Given the description of an element on the screen output the (x, y) to click on. 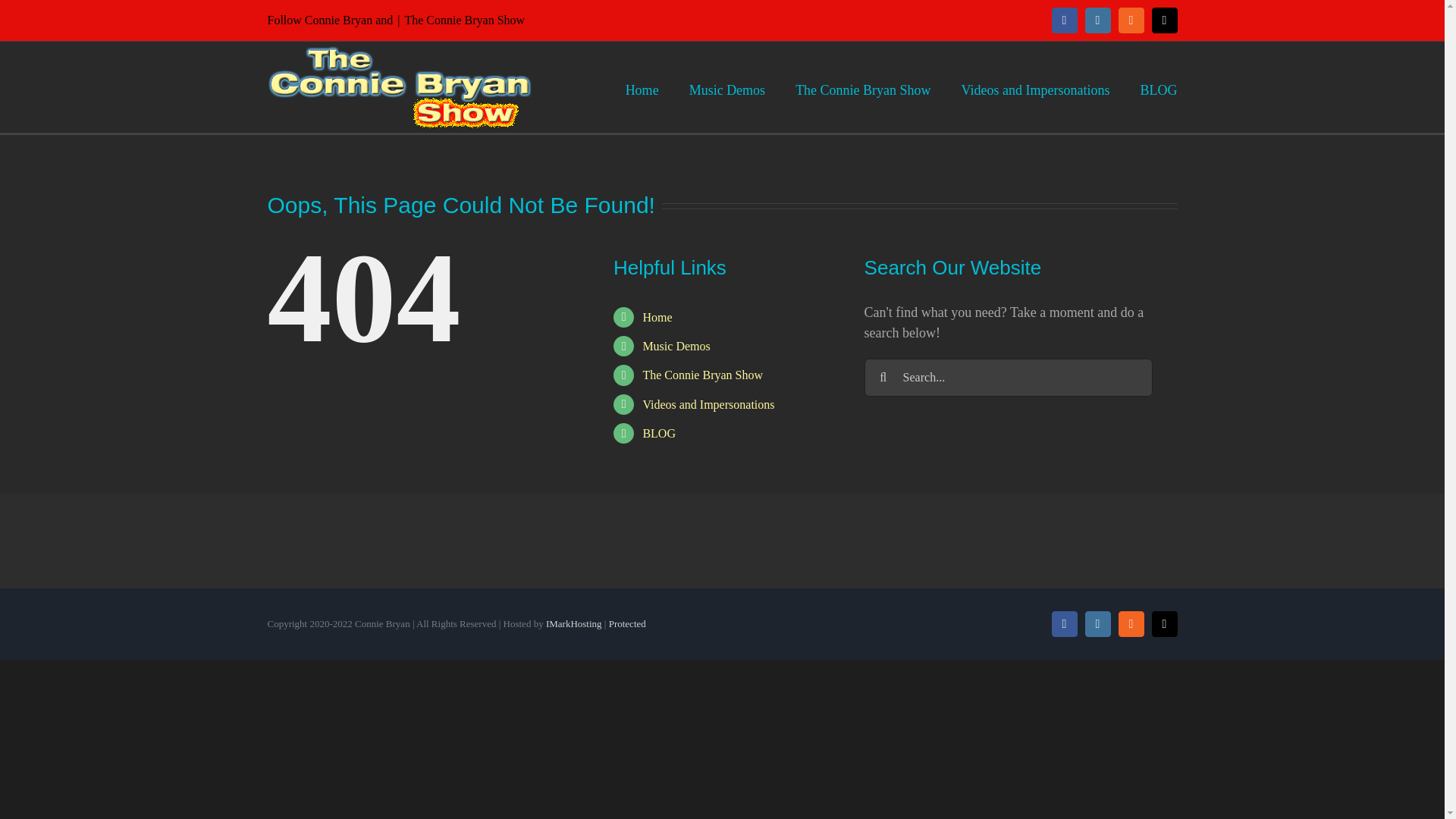
Comedy Videos and Impersonations (708, 404)
Facebook (1064, 20)
Instagram (1096, 20)
Comedy Videos and Impersonations (1034, 86)
Home (656, 317)
The Connie Bryan Show (464, 19)
X (1163, 20)
Latest TV Shows (862, 86)
The Connie Bryan Show (702, 374)
X (1163, 20)
IMarkHosting (574, 623)
The Connie Bryan Show (656, 317)
The Connie Bryan Show (862, 86)
Music Demos (676, 345)
Videos and Impersonations (1034, 86)
